Given the description of an element on the screen output the (x, y) to click on. 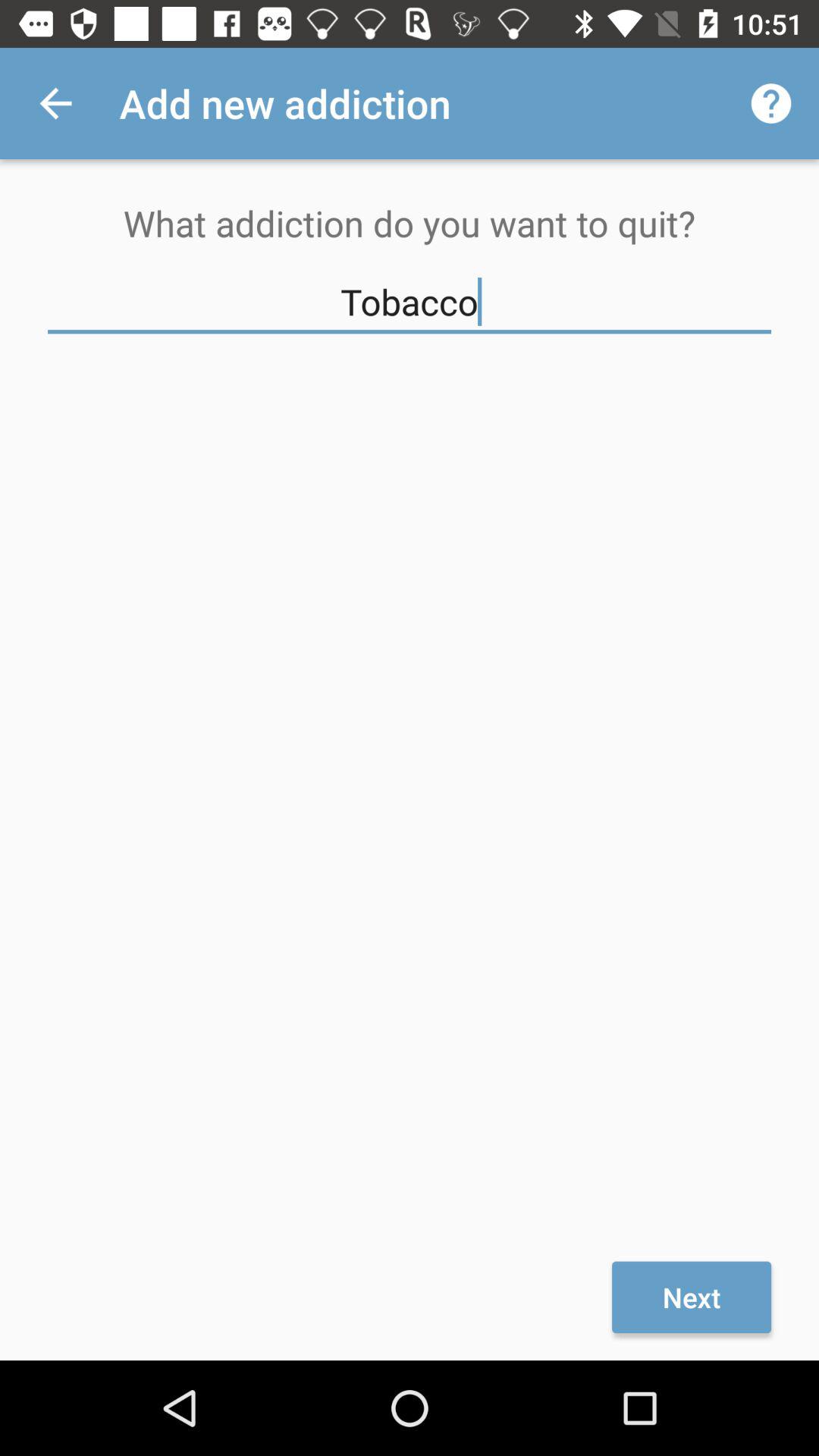
press item above what addiction do icon (771, 103)
